Given the description of an element on the screen output the (x, y) to click on. 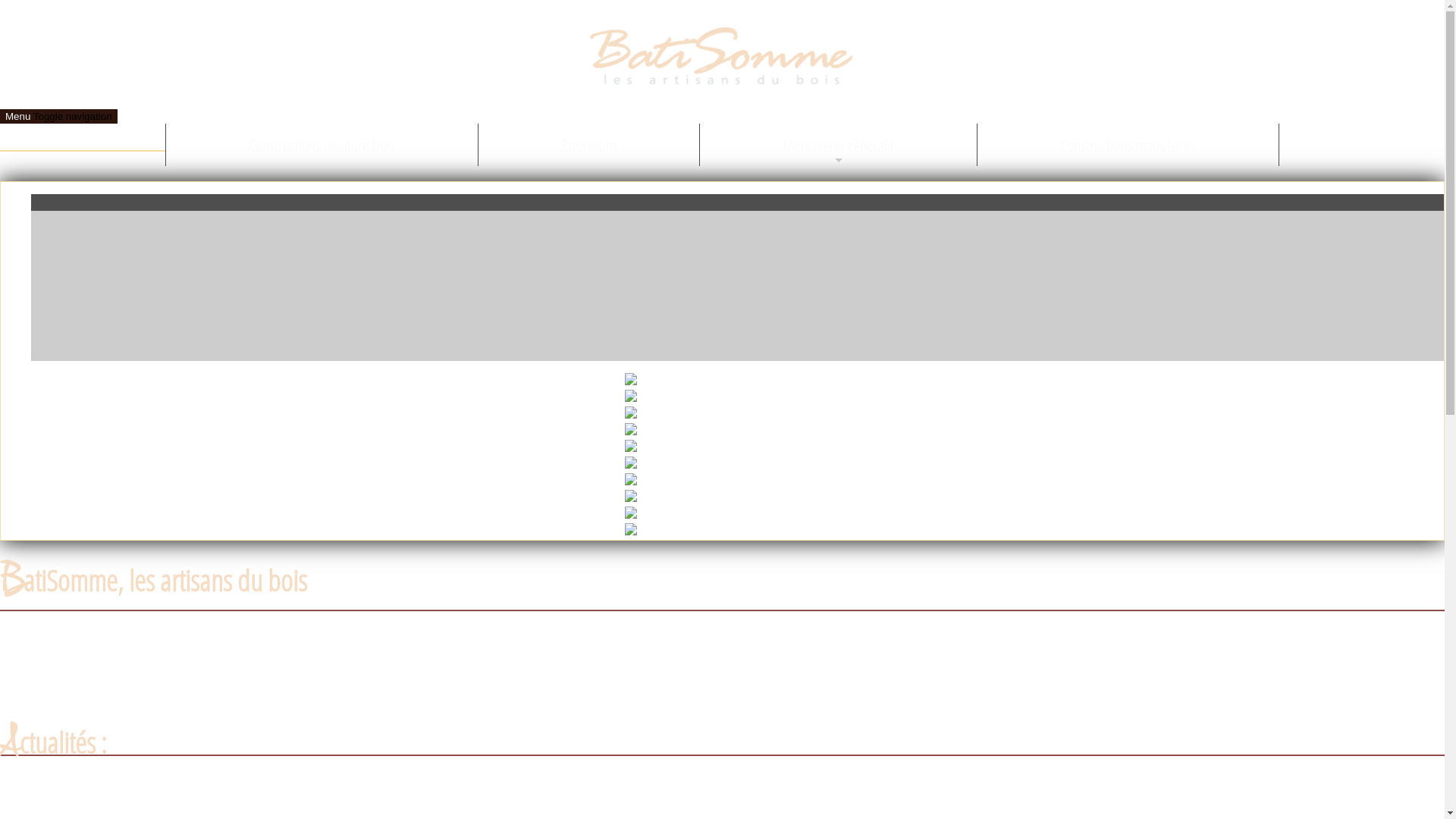
Menu Toggle navigation Element type: text (58, 116)
terrasses Element type: text (372, 712)
escaliers Element type: text (197, 712)
Constructions modulaires Element type: text (1127, 144)
constructions modulaires Element type: text (624, 694)
Constructions ossature bois Element type: text (321, 144)
Extensions Element type: text (588, 144)
mobiliers Element type: text (432, 712)
